Given the description of an element on the screen output the (x, y) to click on. 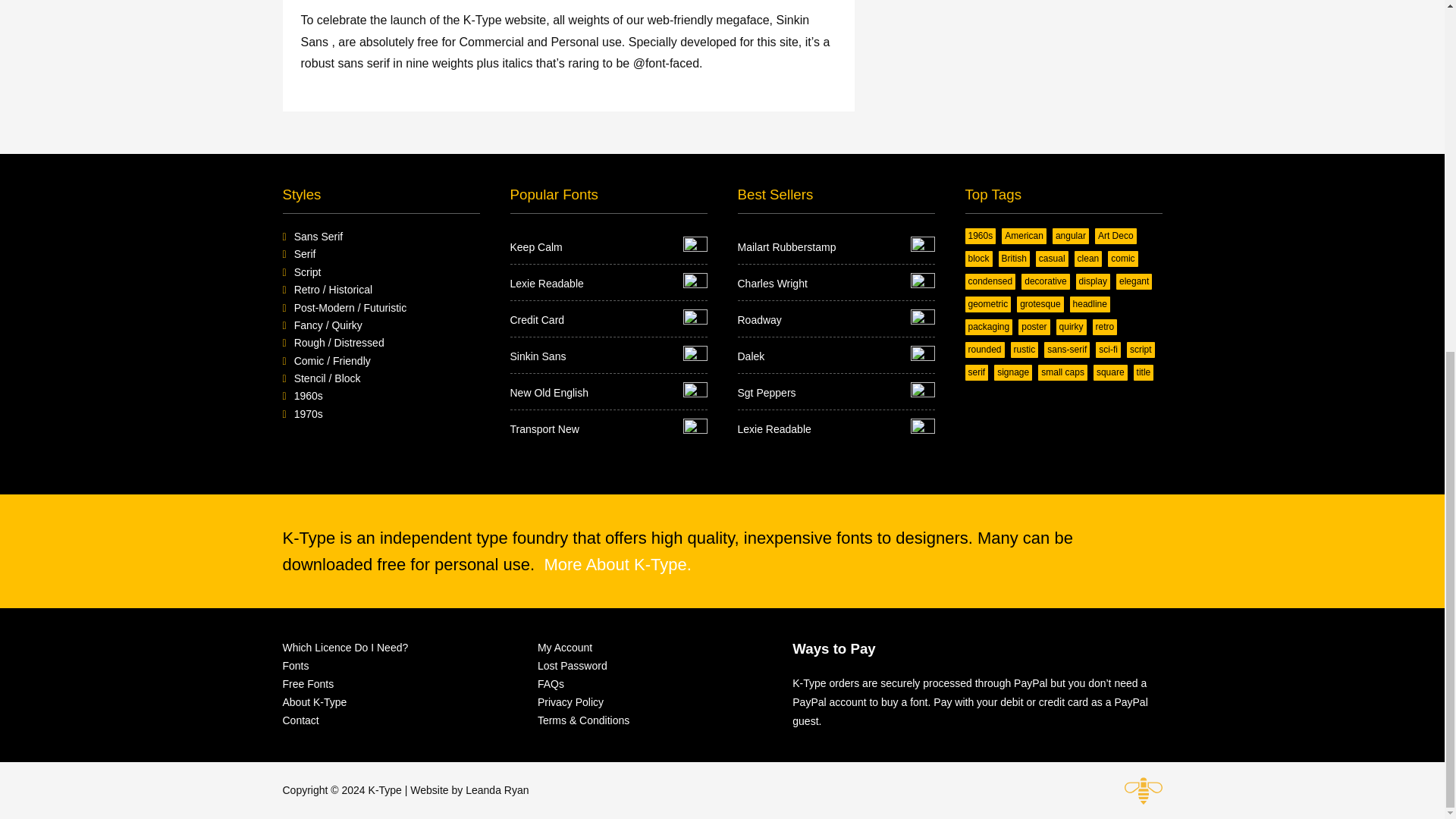
Mailart Rubberstamp (835, 246)
1960s (308, 395)
Keep Calm (607, 246)
Sans Serif (318, 236)
Charles Wright (835, 283)
Transport New (607, 428)
New Old English (607, 392)
Script (307, 272)
Serif (304, 254)
Lexie Readable (607, 283)
